Given the description of an element on the screen output the (x, y) to click on. 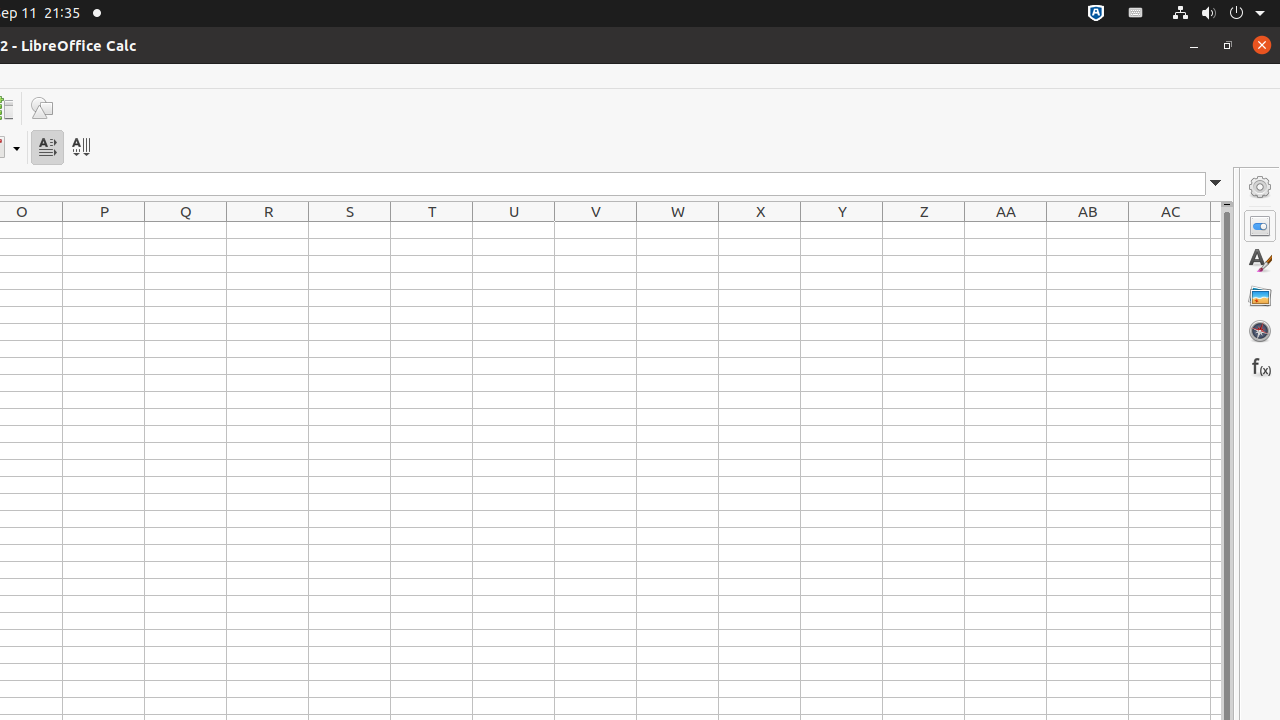
Gallery Element type: radio-button (1260, 296)
Expand Formula Bar Element type: push-button (1216, 183)
